Given the description of an element on the screen output the (x, y) to click on. 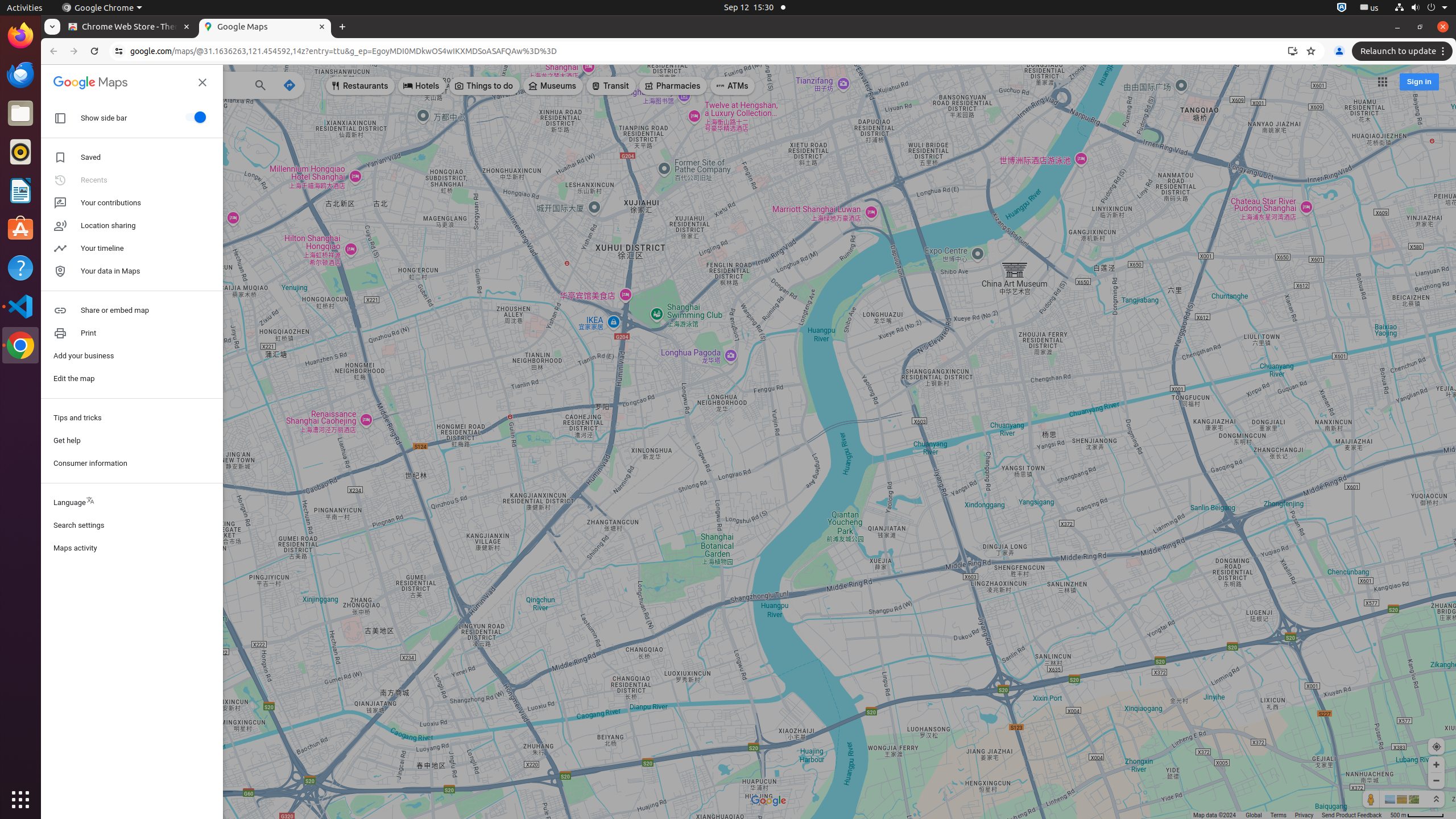
500 m Element type: push-button (1417, 815)
Zoom out Element type: push-button (1436, 780)
You Element type: push-button (1339, 50)
Location sharing Element type: menu-item (131, 225)
Search settings Element type: menu-item (131, 525)
